Given the description of an element on the screen output the (x, y) to click on. 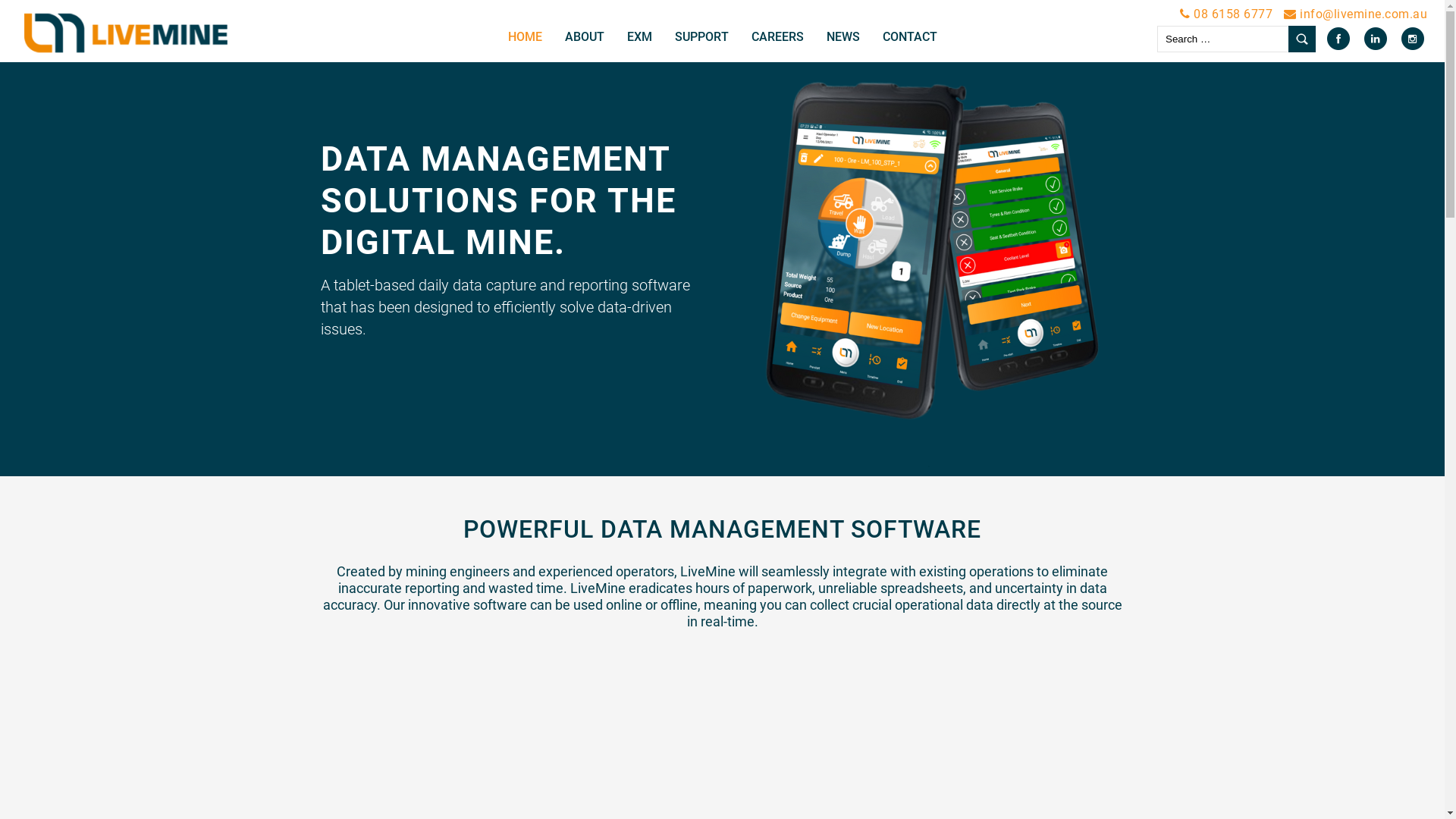
Search Element type: text (1301, 38)
NEWS Element type: text (842, 37)
EXM Element type: text (639, 37)
CAREERS Element type: text (777, 37)
info@livemine.com.au Element type: text (1361, 13)
CONTACT Element type: text (908, 37)
SUPPORT Element type: text (700, 37)
ABOUT Element type: text (584, 37)
HOME Element type: text (523, 37)
